Given the description of an element on the screen output the (x, y) to click on. 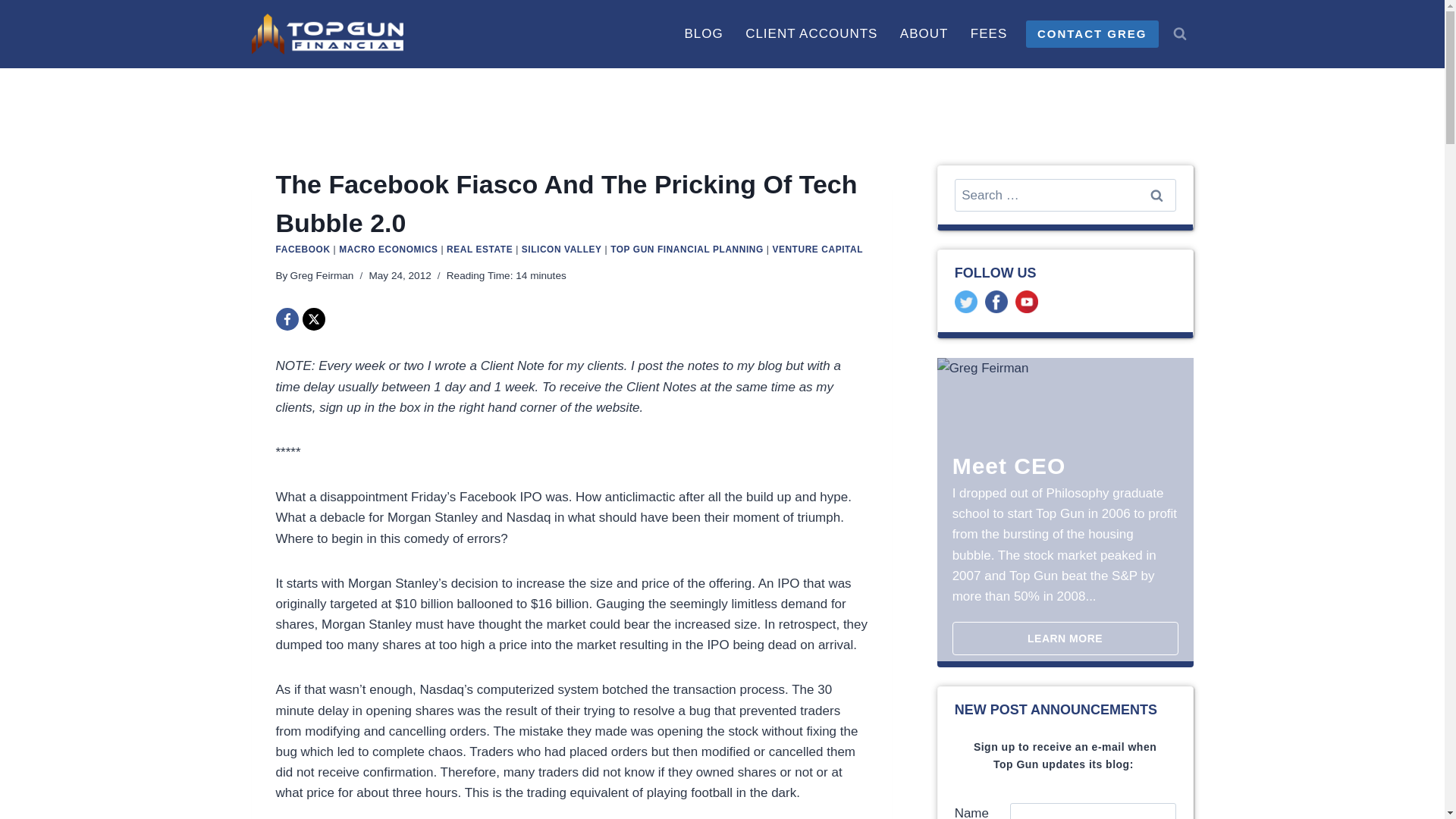
BLOG (703, 33)
VENTURE CAPITAL (817, 249)
CLIENT ACCOUNTS (810, 33)
CONTACT GREG (1092, 33)
Search (1155, 195)
FEES (988, 33)
TOP GUN FINANCIAL PLANNING (686, 249)
Search (1155, 195)
ABOUT (923, 33)
REAL ESTATE (479, 249)
Greg Feirman (321, 275)
MACRO ECONOMICS (388, 249)
SILICON VALLEY (561, 249)
FACEBOOK (303, 249)
